Given the description of an element on the screen output the (x, y) to click on. 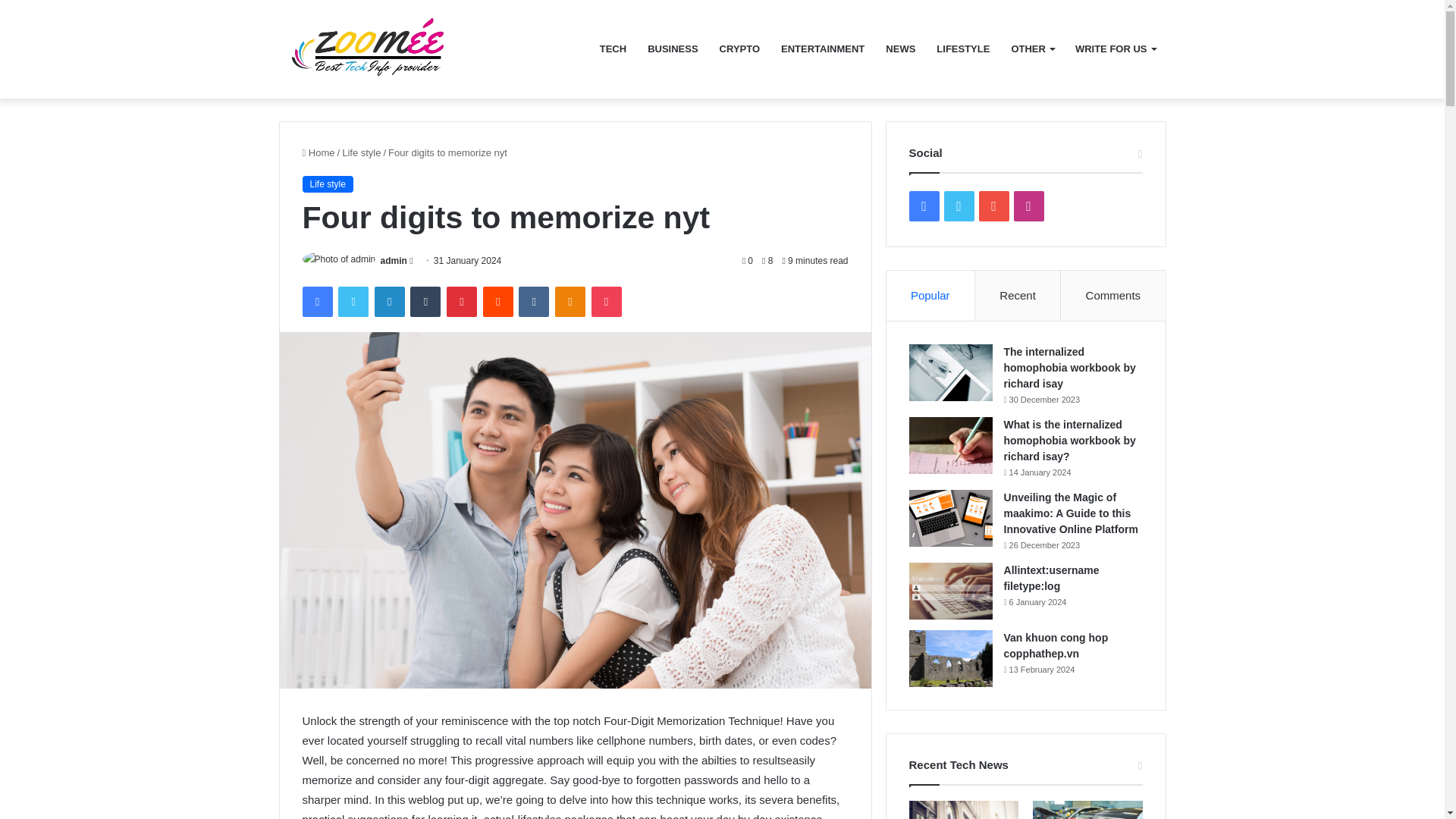
Life style (326, 184)
VKontakte (533, 301)
Facebook (316, 301)
WRITE FOR US (1115, 49)
Facebook (316, 301)
admin (393, 260)
LinkedIn (389, 301)
Twitter (352, 301)
Tumblr (425, 301)
LinkedIn (389, 301)
admin (393, 260)
Odnoklassniki (569, 301)
Pinterest (461, 301)
Life style (361, 152)
Reddit (498, 301)
